Given the description of an element on the screen output the (x, y) to click on. 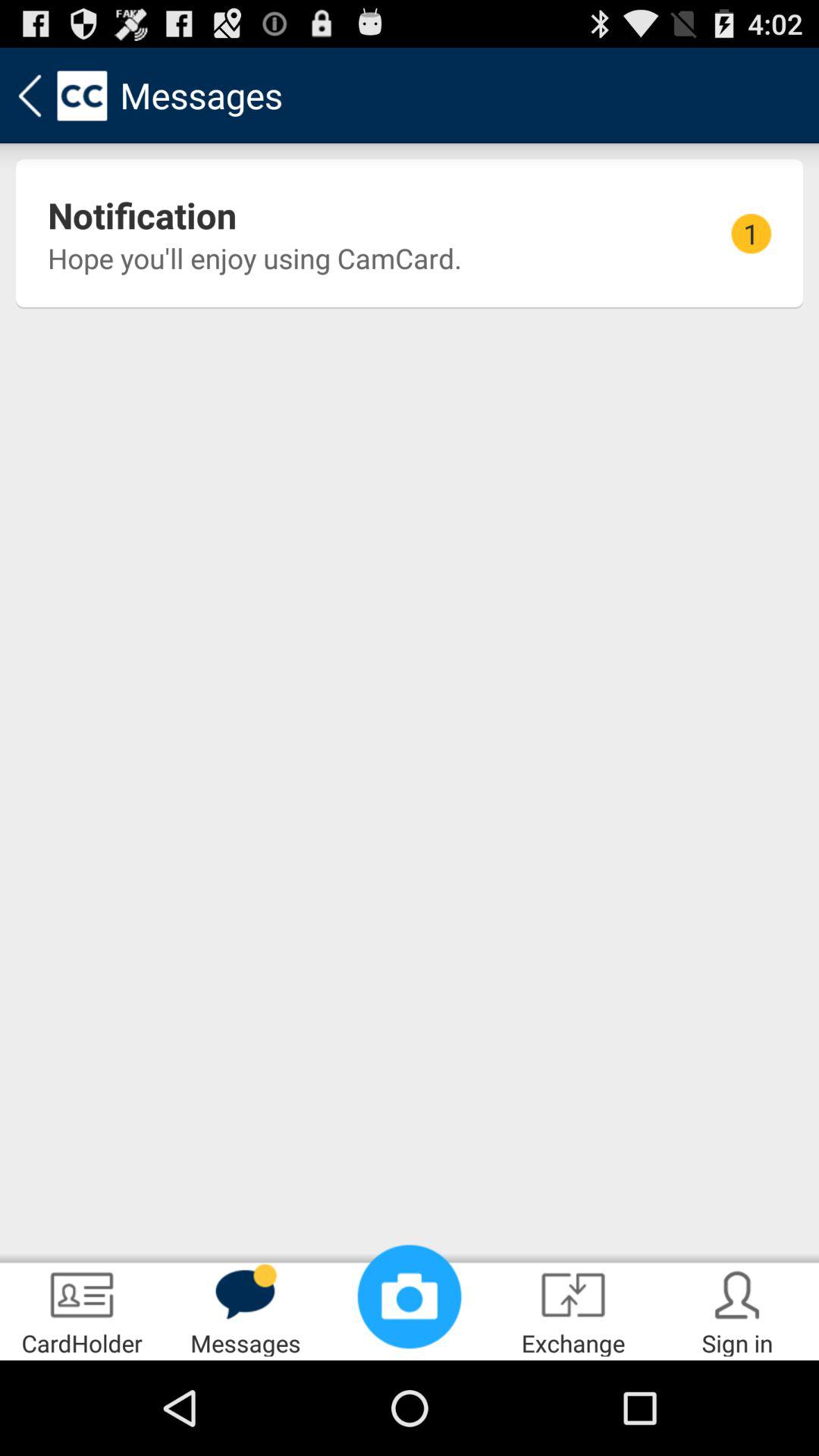
click 1 (751, 233)
